Given the description of an element on the screen output the (x, y) to click on. 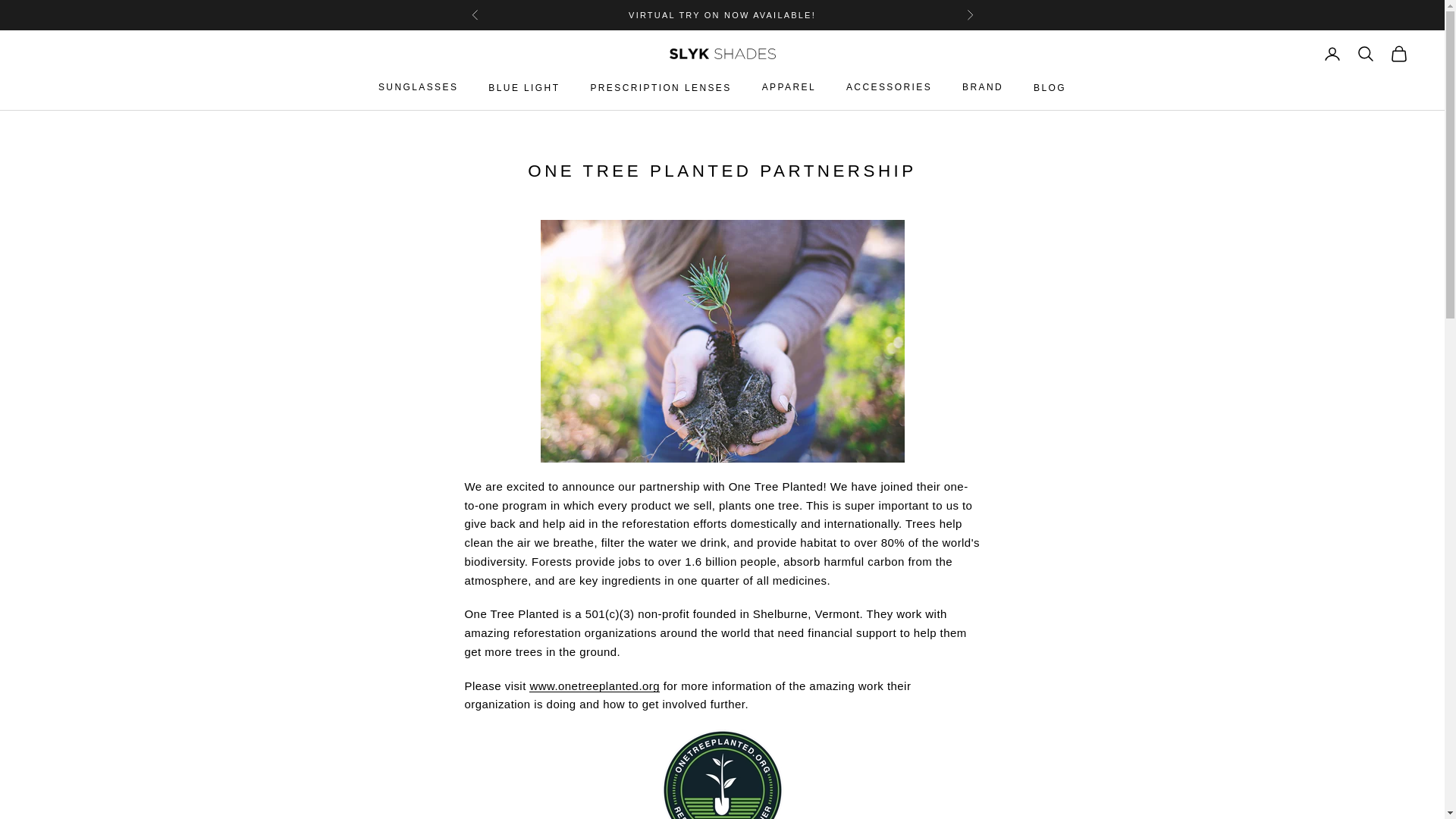
BLUE LIGHT (523, 87)
PRESCRIPTION LENSES (659, 87)
One Tree Planted (594, 685)
SLYK Shades (721, 53)
